Given the description of an element on the screen output the (x, y) to click on. 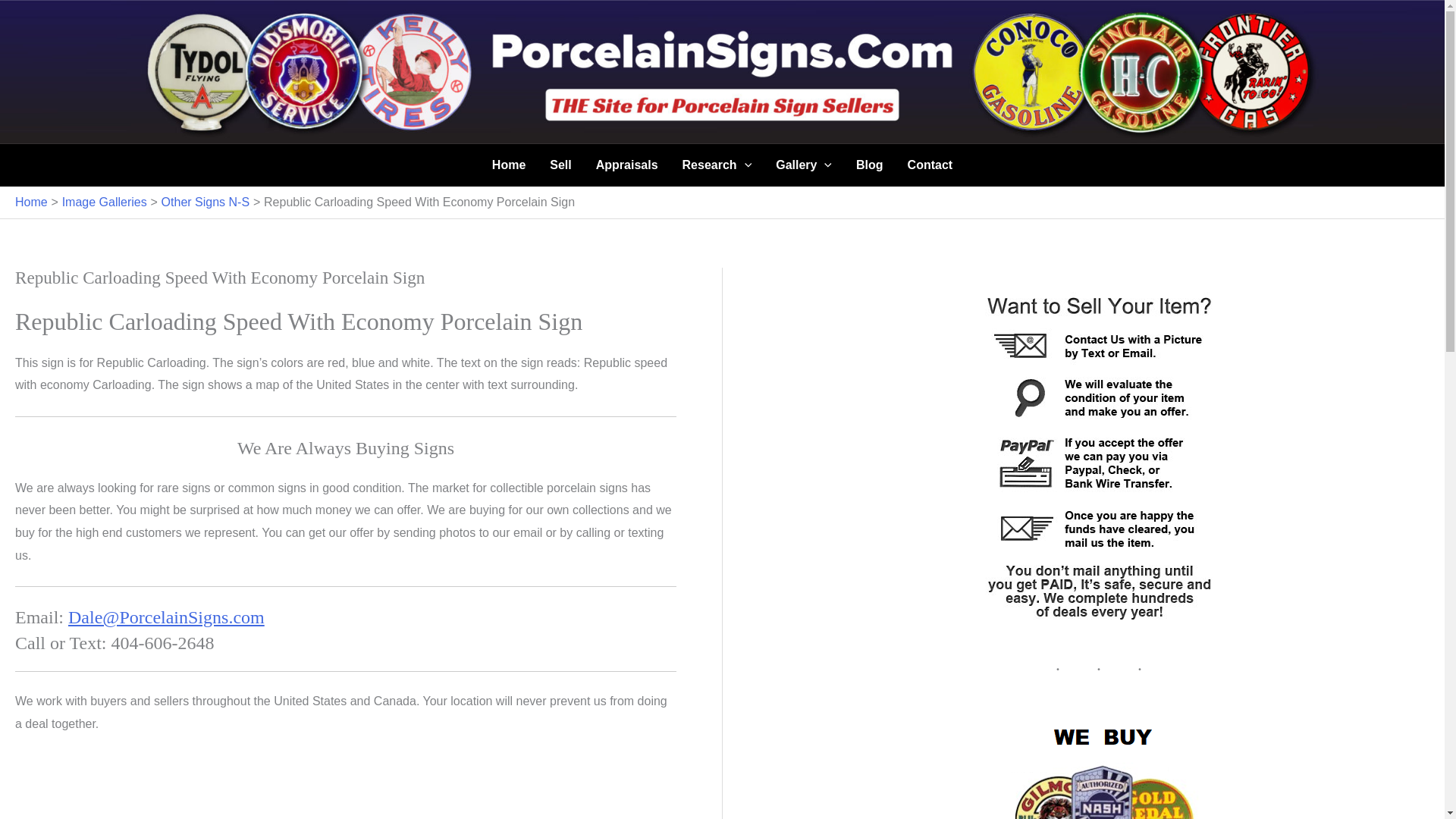
Contact (930, 165)
Sell (560, 165)
Home (508, 165)
Blog (869, 165)
Appraisals (626, 165)
Gallery (803, 165)
Research (716, 165)
